Given the description of an element on the screen output the (x, y) to click on. 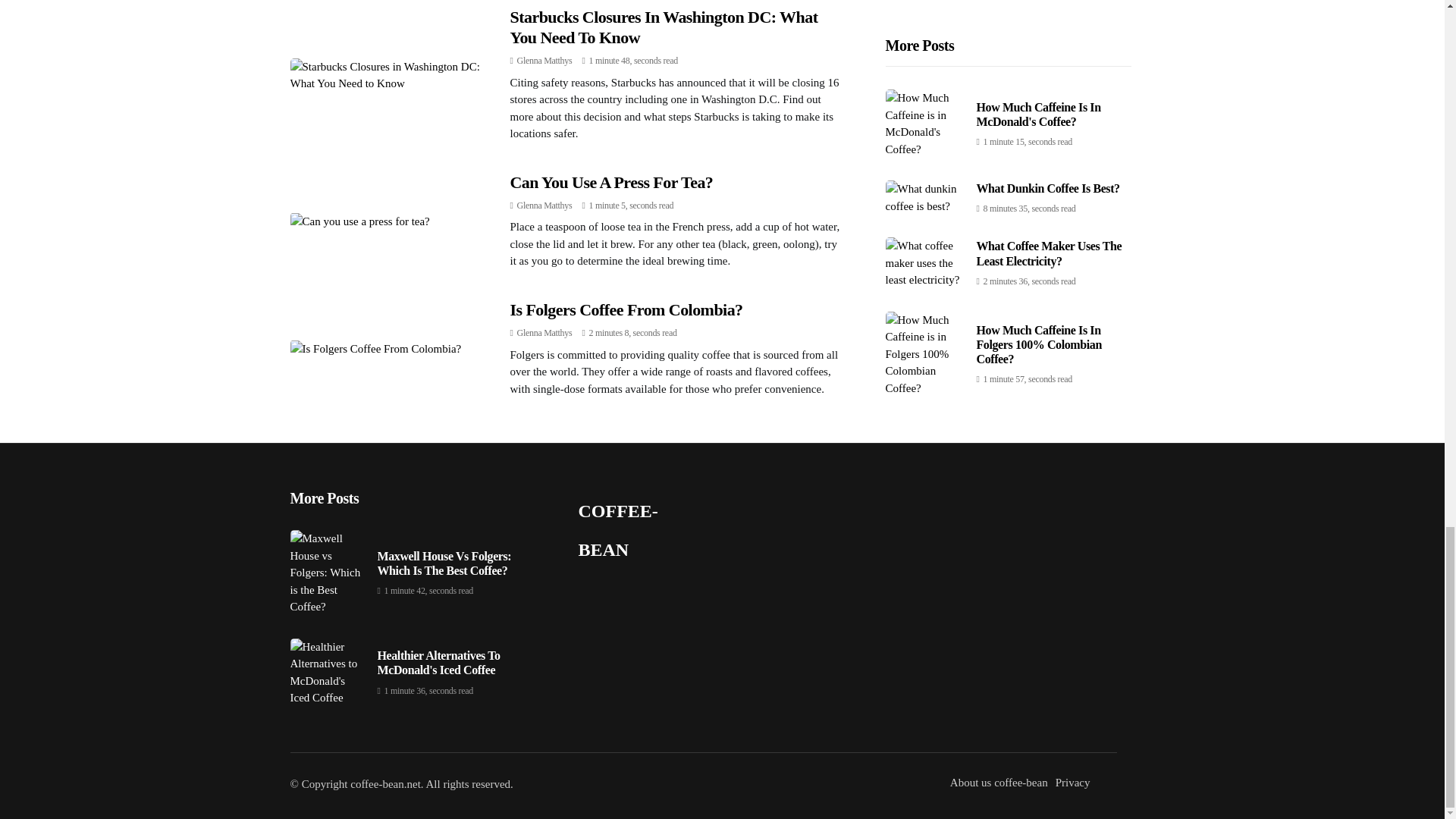
Glenna Matthys (544, 332)
Glenna Matthys (544, 60)
Posts by Glenna Matthys (544, 60)
Starbucks Closures In Washington DC: What You Need To Know (662, 26)
Can You Use A Press For Tea? (611, 181)
Posts by Glenna Matthys (544, 332)
Posts by Glenna Matthys (544, 204)
Glenna Matthys (544, 204)
Is Folgers Coffee From Colombia? (625, 309)
